Given the description of an element on the screen output the (x, y) to click on. 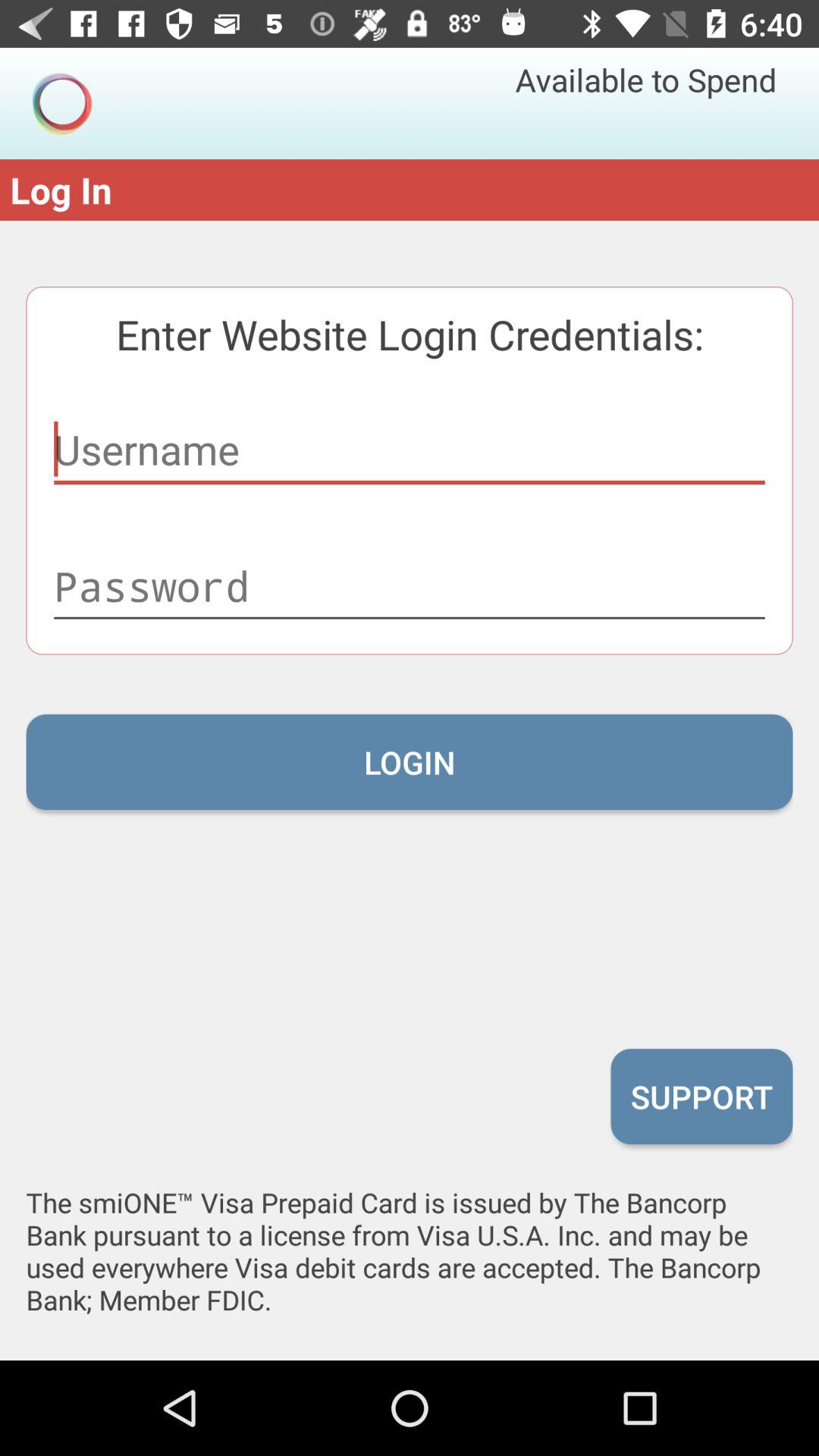
press item above the login item (409, 586)
